Given the description of an element on the screen output the (x, y) to click on. 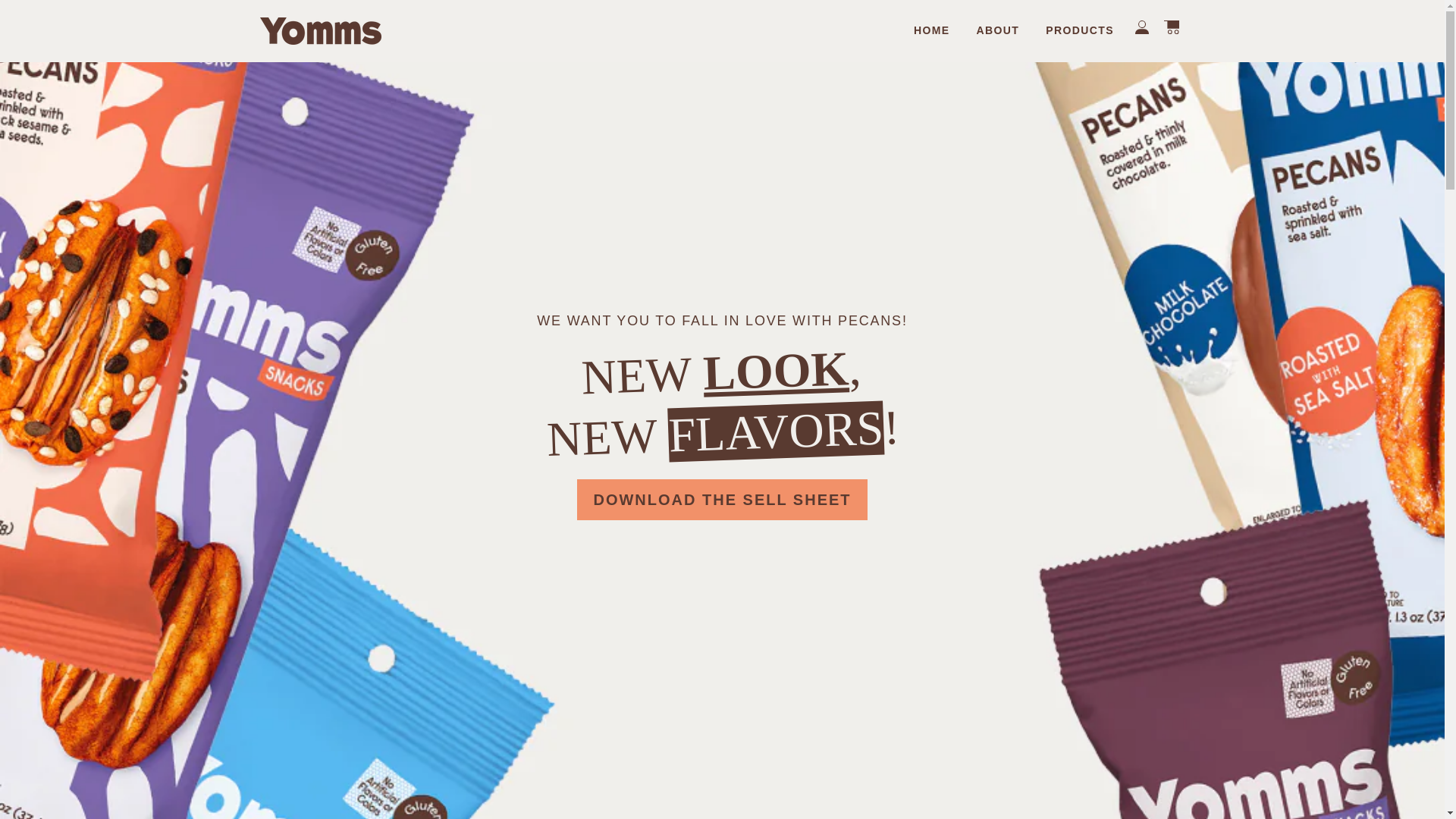
DOWNLOAD THE SELL SHEET (721, 499)
PRODUCTS (1079, 30)
user (1141, 27)
ABOUT (997, 30)
cart (1171, 27)
HOME (931, 30)
ABOUT (997, 30)
